Given the description of an element on the screen output the (x, y) to click on. 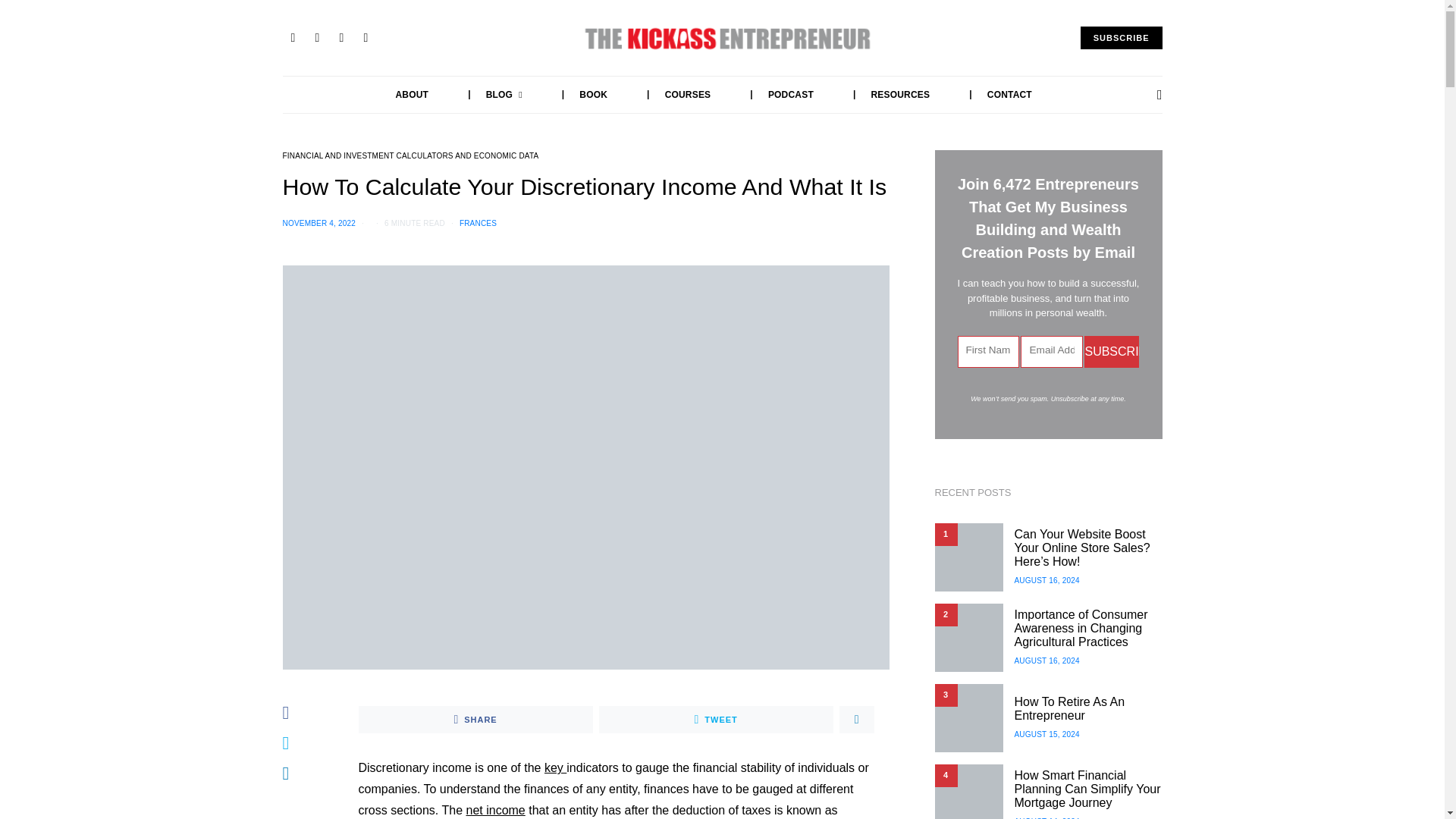
SUBSCRIBE (1120, 37)
View all posts by Frances (478, 223)
BLOG (487, 94)
ABOUT (412, 94)
